Given the description of an element on the screen output the (x, y) to click on. 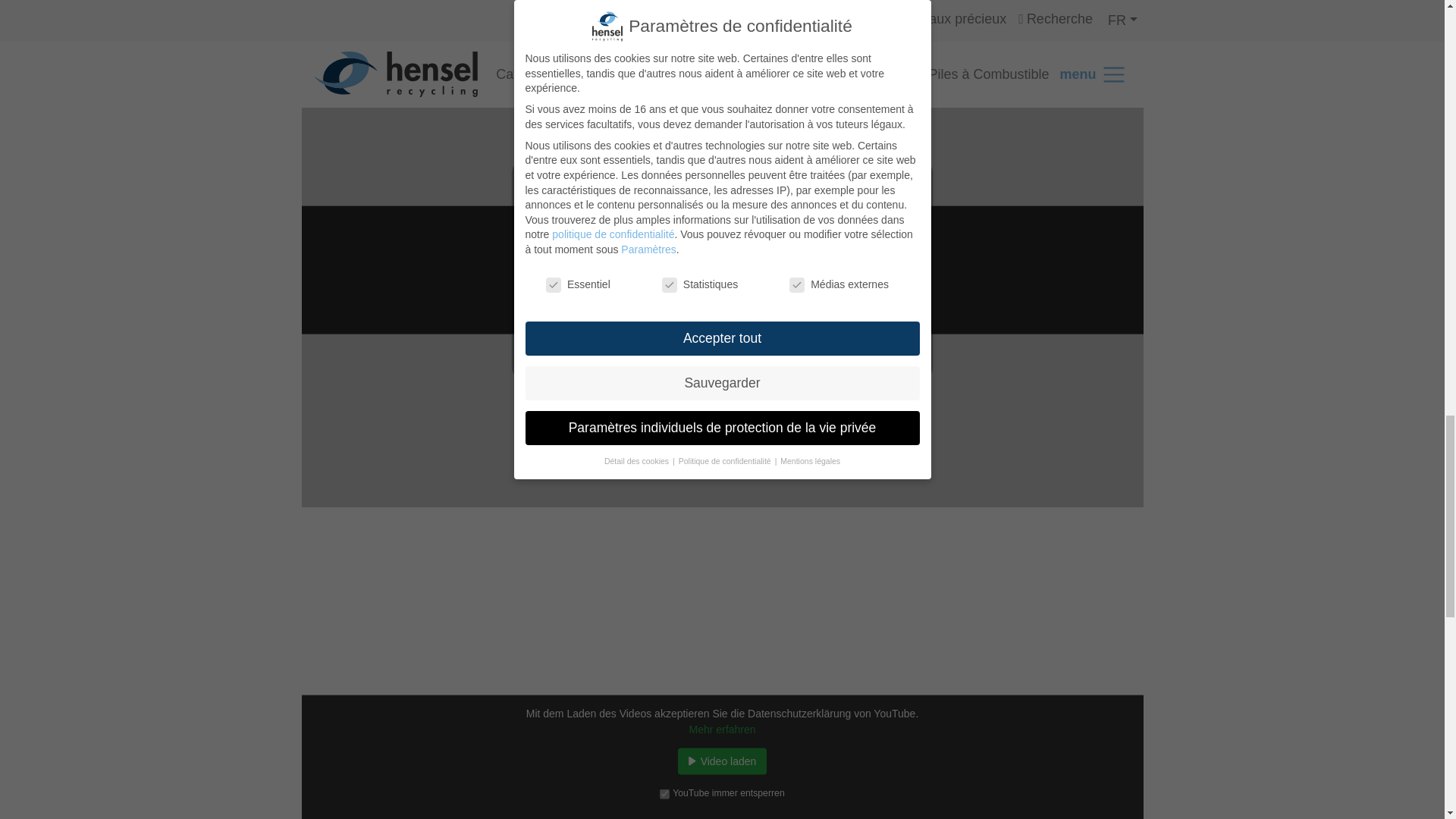
1 (664, 305)
1 (664, 793)
